Given the description of an element on the screen output the (x, y) to click on. 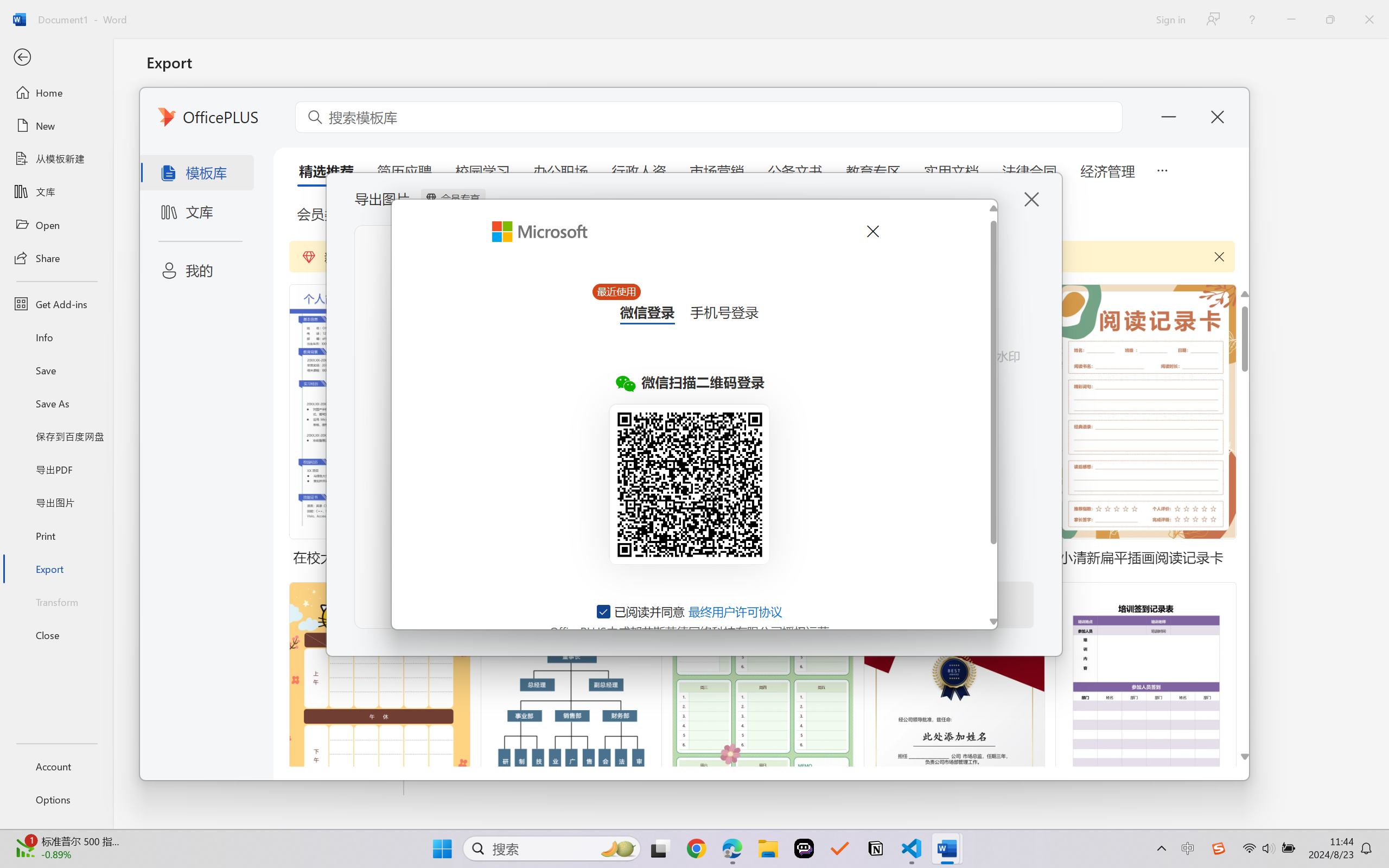
Export (56, 568)
Back (56, 57)
